Given the description of an element on the screen output the (x, y) to click on. 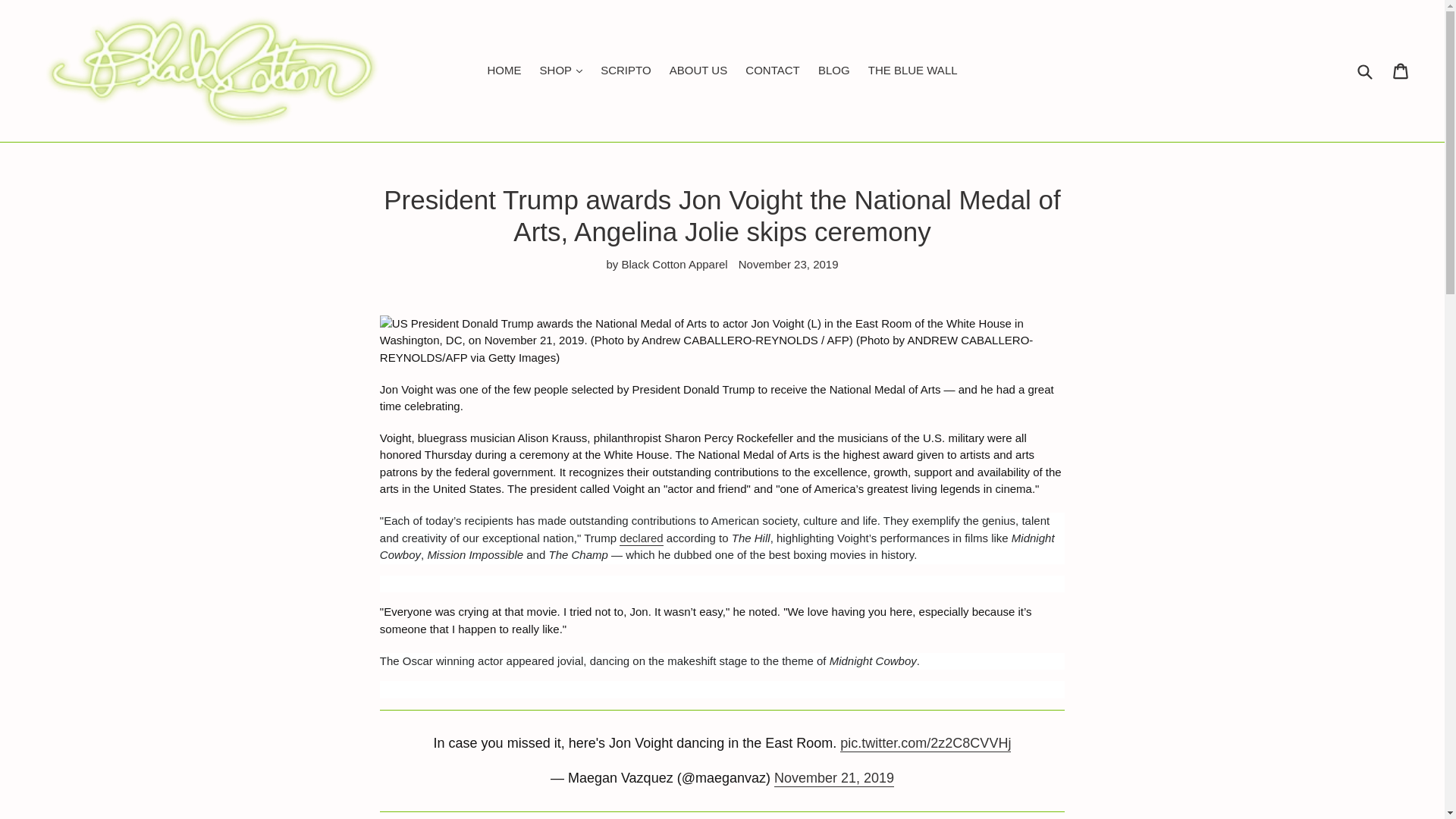
BLOG (833, 70)
THE BLUE WALL (912, 70)
ABOUT US (698, 70)
SCRIPTO (625, 70)
November 21, 2019 (833, 778)
HOME (503, 70)
CONTACT (772, 70)
declared (641, 538)
